Given the description of an element on the screen output the (x, y) to click on. 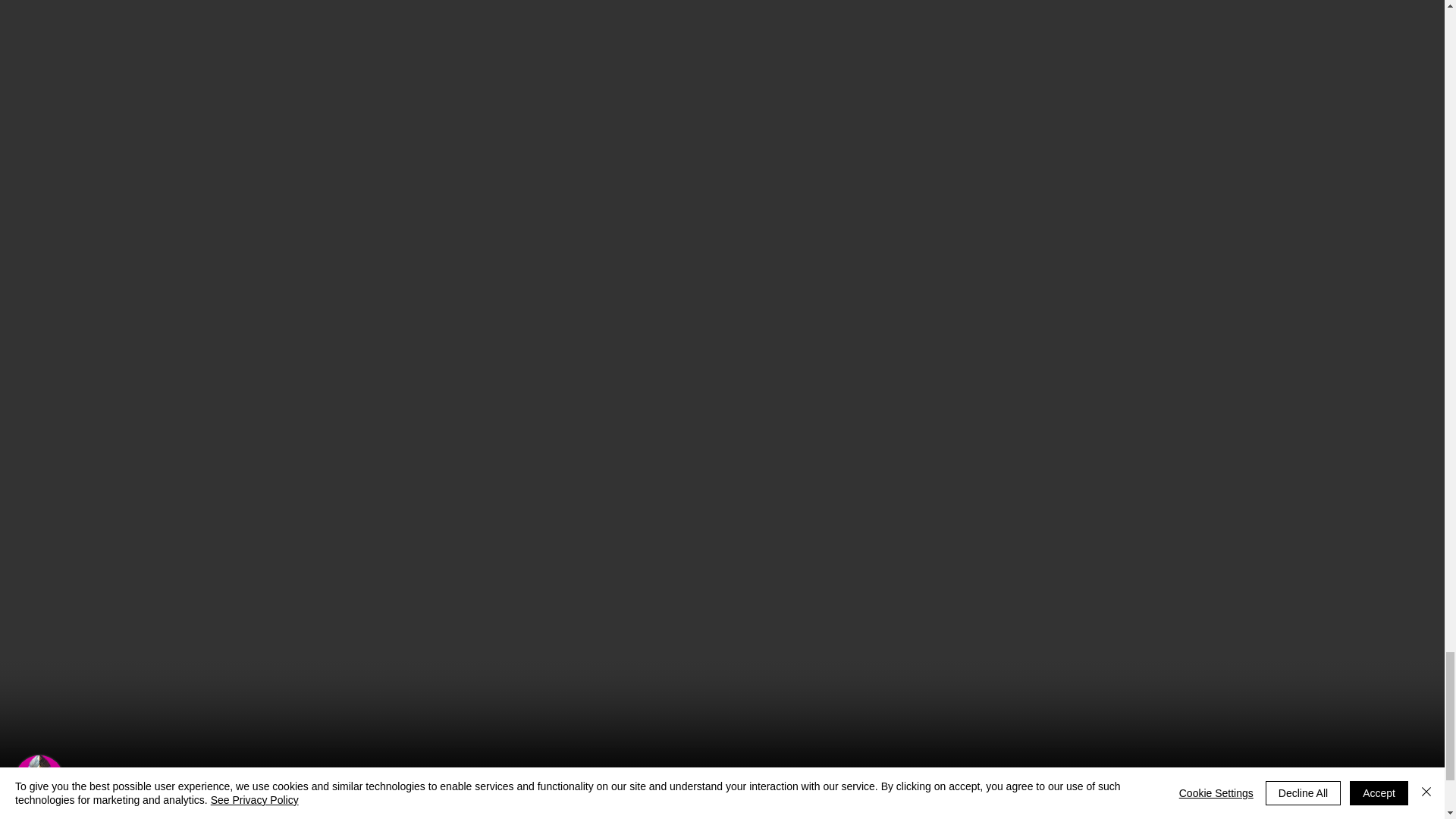
 Terms of Use (686, 812)
Privacy Policy (765, 812)
